Given the description of an element on the screen output the (x, y) to click on. 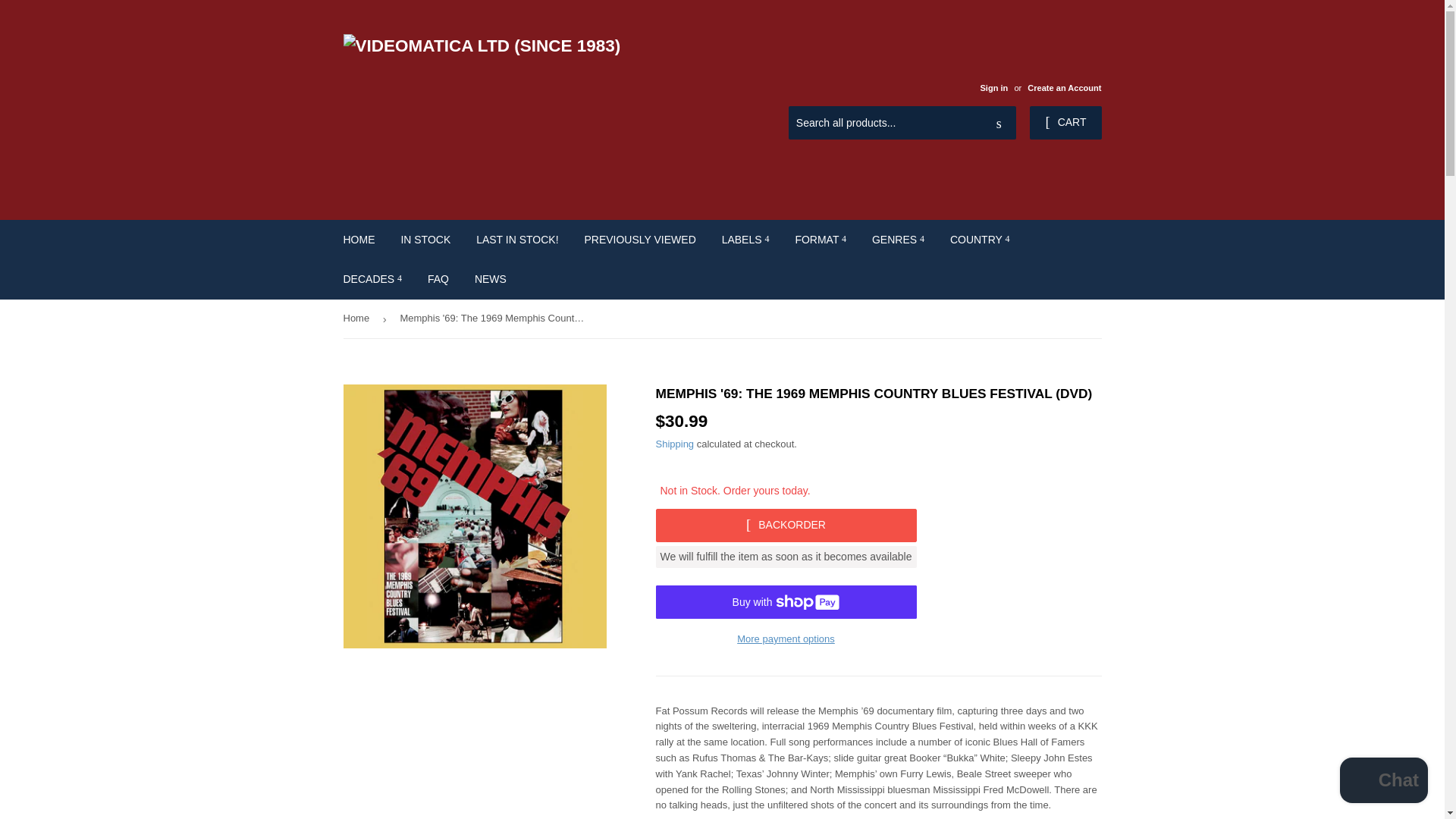
Search (998, 123)
Sign in (993, 87)
CART (1064, 122)
Create an Account (1063, 87)
Shopify online store chat (1383, 781)
